Given the description of an element on the screen output the (x, y) to click on. 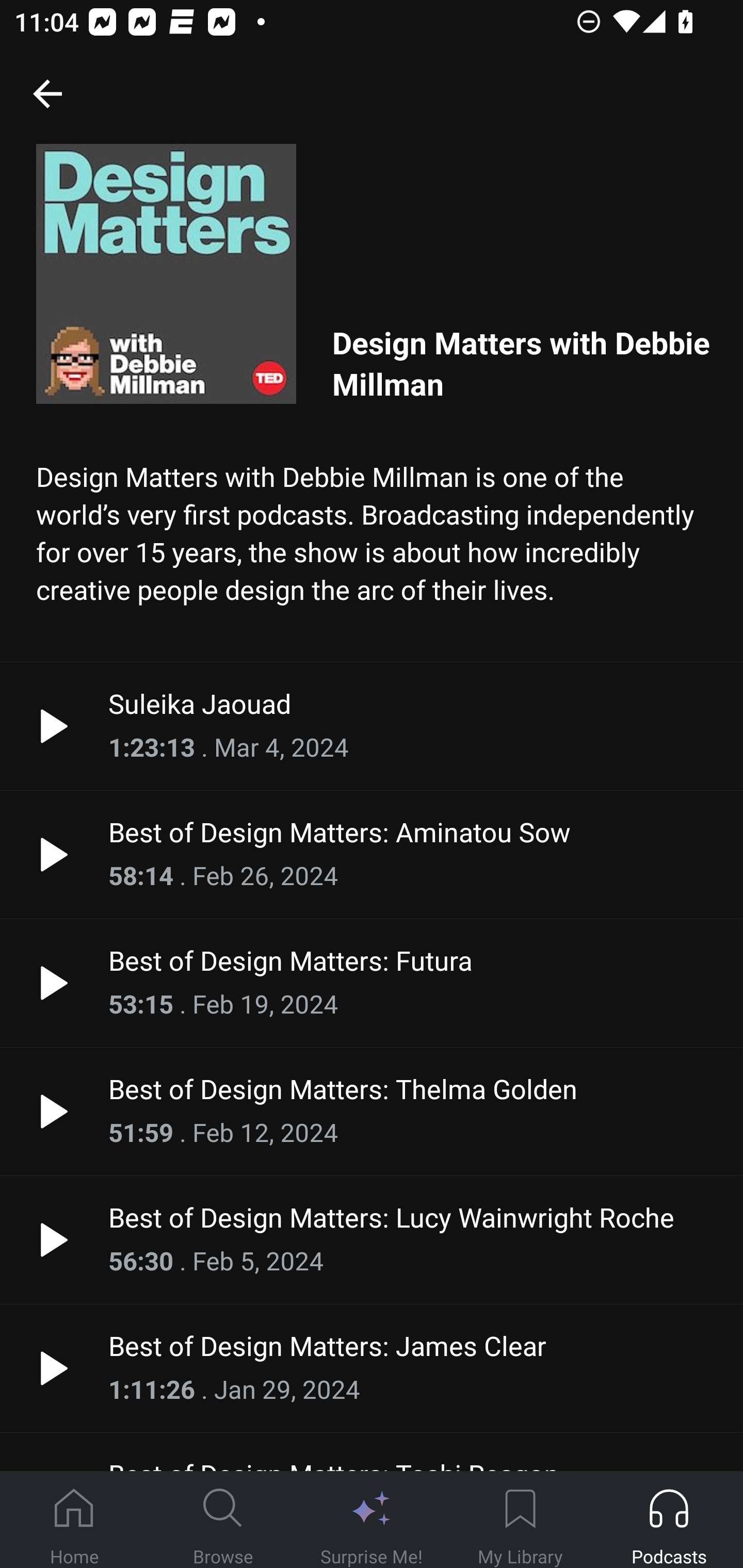
TED Podcasts, back (47, 92)
Suleika Jaouad 1:23:13 . Mar 4, 2024 (371, 725)
Home (74, 1520)
Browse (222, 1520)
Surprise Me! (371, 1520)
My Library (519, 1520)
Podcasts (668, 1520)
